Given the description of an element on the screen output the (x, y) to click on. 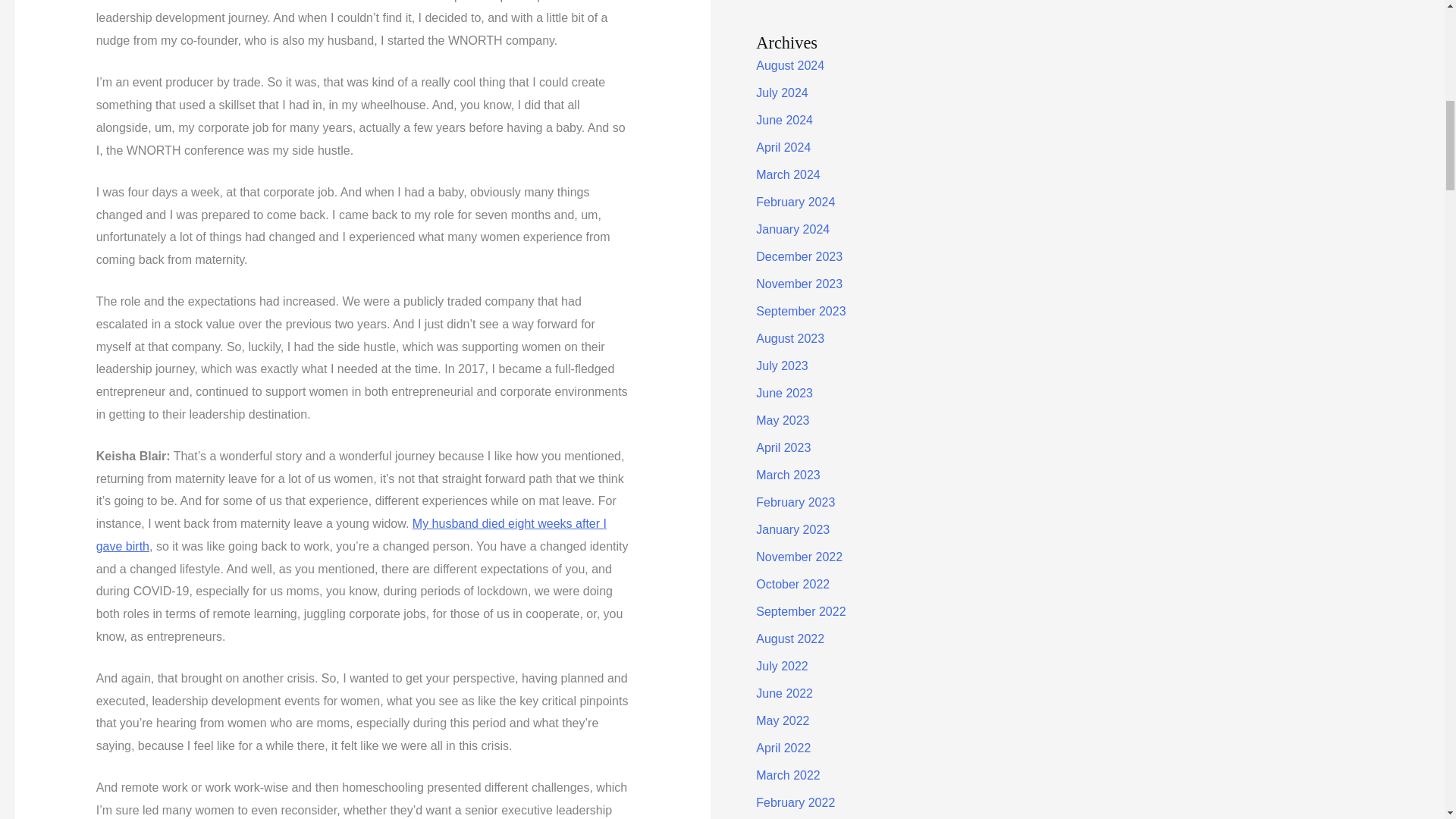
August 2024 (789, 65)
July 2024 (781, 92)
My husband died eight weeks after I gave birth (351, 534)
